Given the description of an element on the screen output the (x, y) to click on. 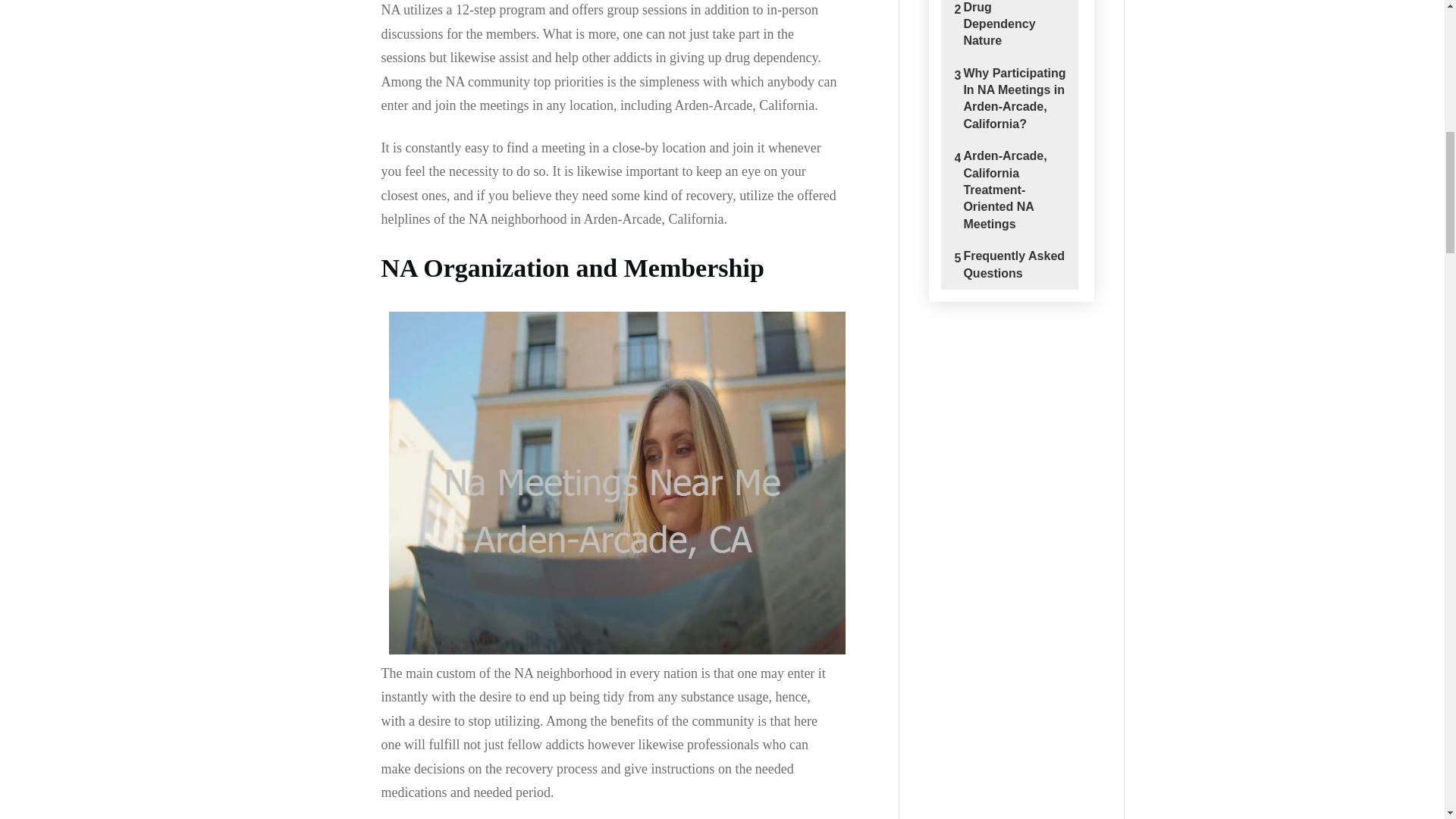
Arden-Arcade, California Treatment-Oriented NA Meetings (1013, 190)
Drug Dependency Nature (1013, 24)
Frequently Asked Questions (1013, 264)
